Given the description of an element on the screen output the (x, y) to click on. 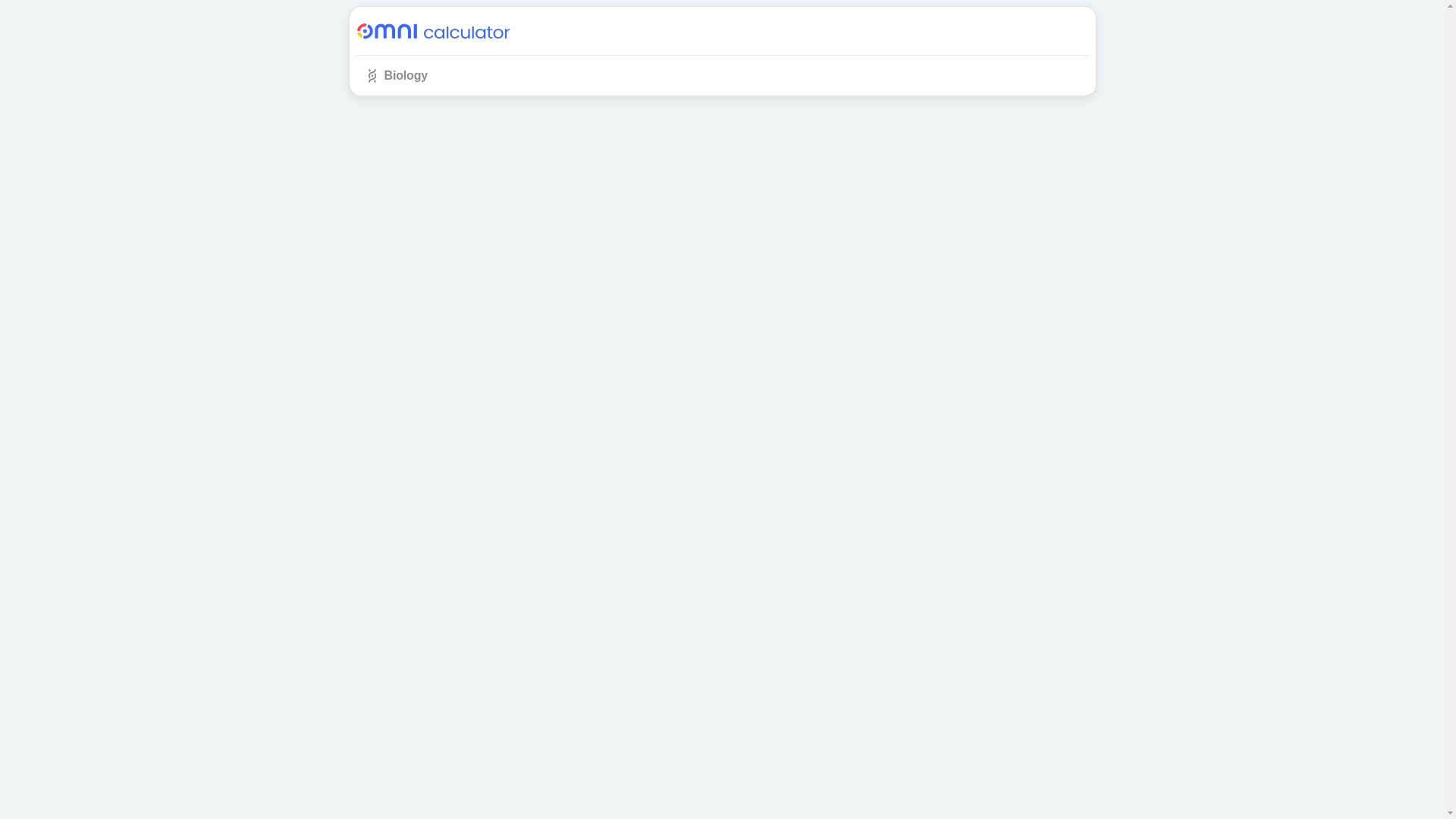
Biology (395, 75)
